Given the description of an element on the screen output the (x, y) to click on. 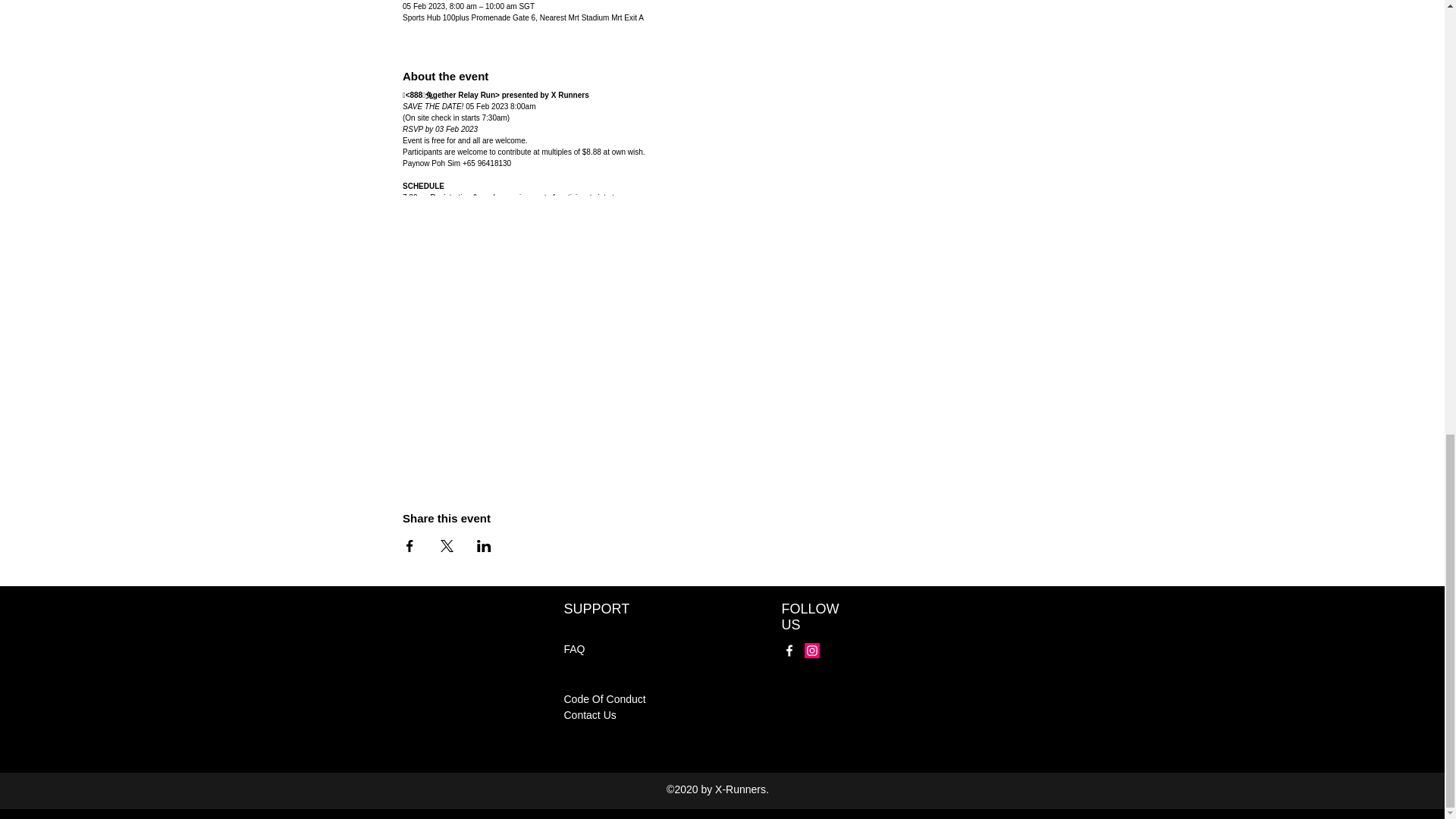
Code Of Conduct (605, 698)
FAQ (574, 648)
Contact Us (589, 715)
